Given the description of an element on the screen output the (x, y) to click on. 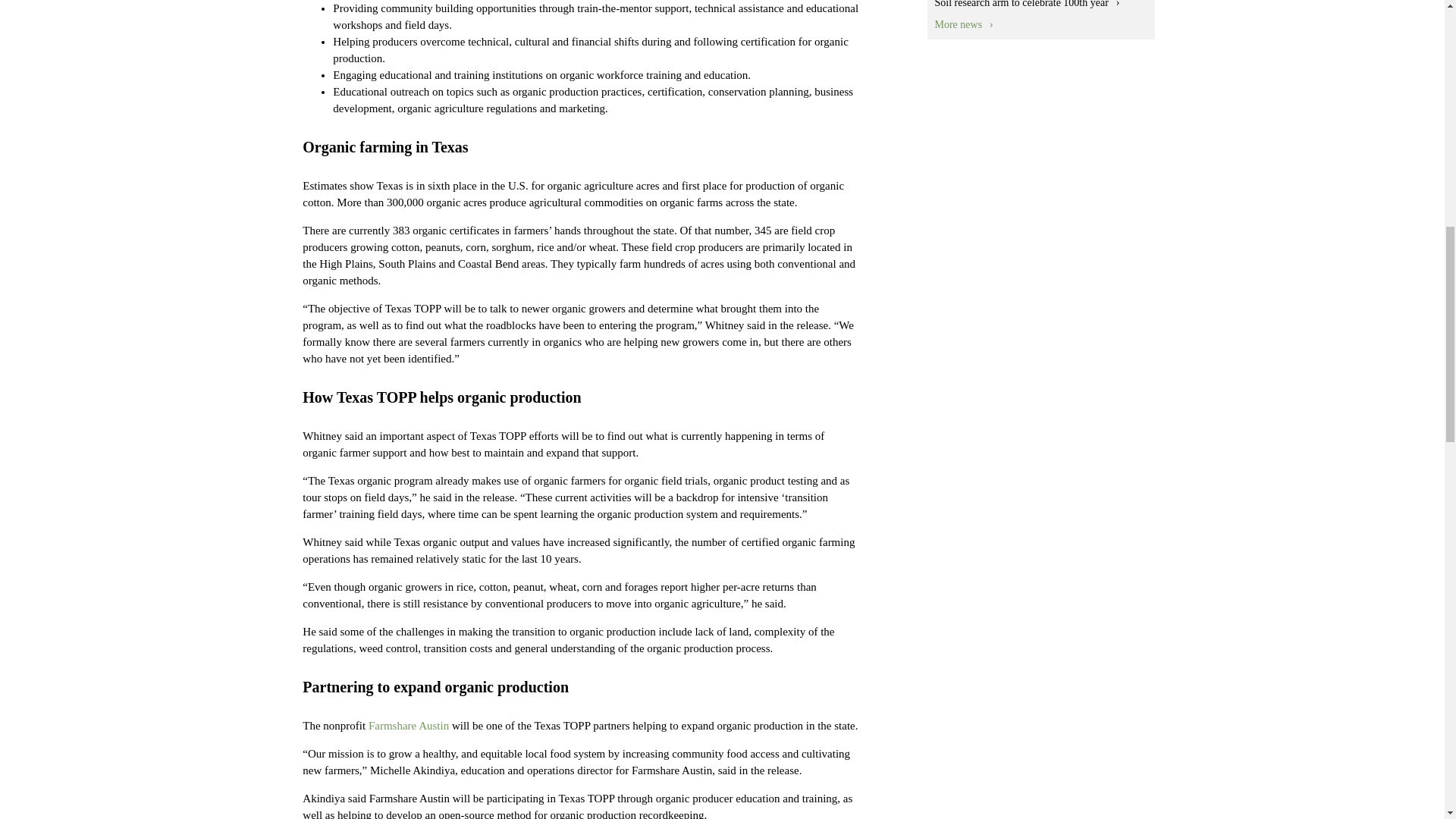
Soil research arm to celebrate 100th year (1026, 4)
More news (963, 24)
Farmshare Austin (408, 725)
